Given the description of an element on the screen output the (x, y) to click on. 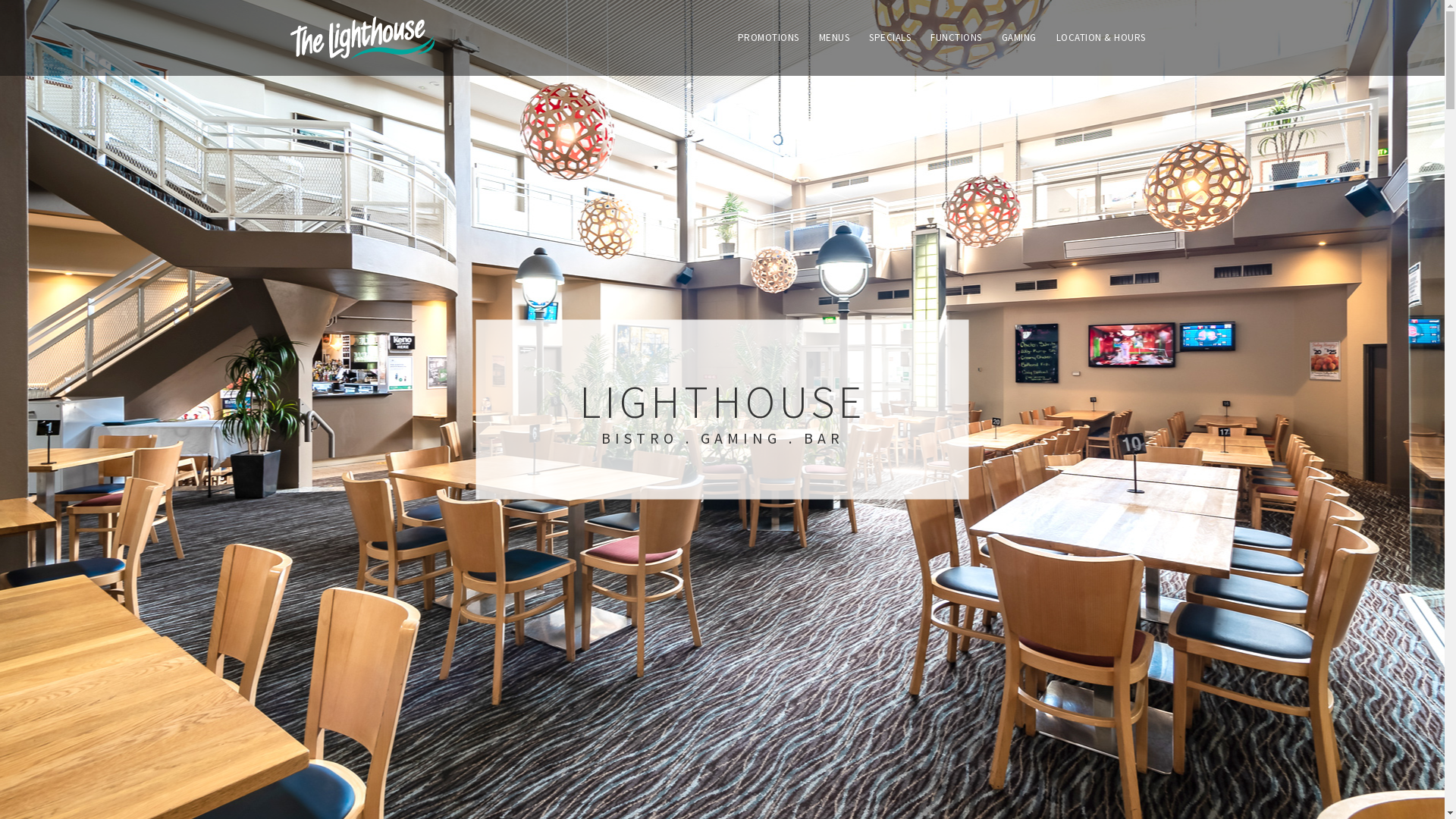
PROMOTIONS Element type: text (767, 37)
GAMING Element type: text (1017, 37)
FUNCTIONS Element type: text (956, 37)
MENUS Element type: text (834, 37)
LOCATION & HOURS Element type: text (1100, 37)
SPECIALS Element type: text (889, 37)
